Given the description of an element on the screen output the (x, y) to click on. 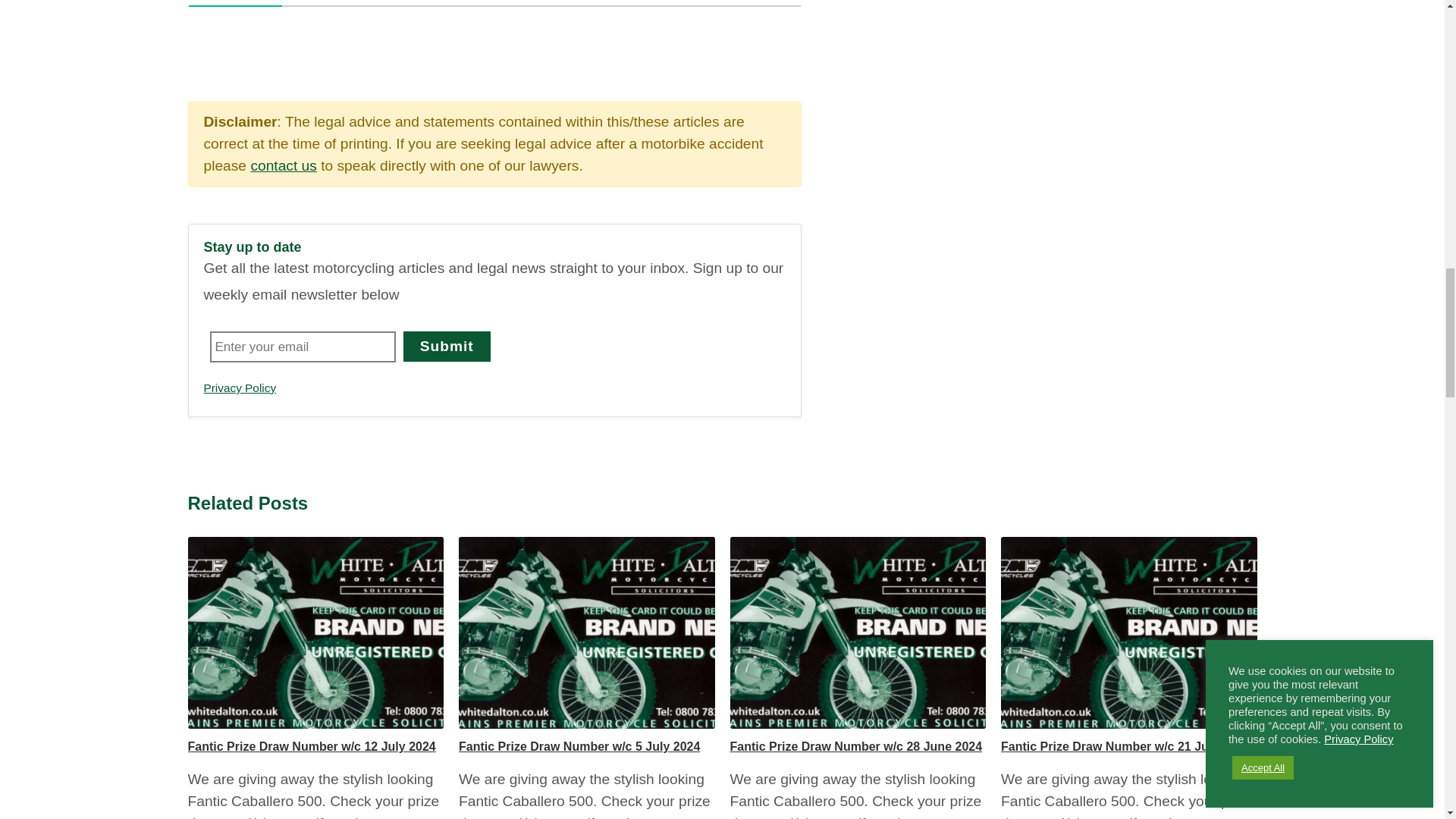
Submit (446, 346)
